Given the description of an element on the screen output the (x, y) to click on. 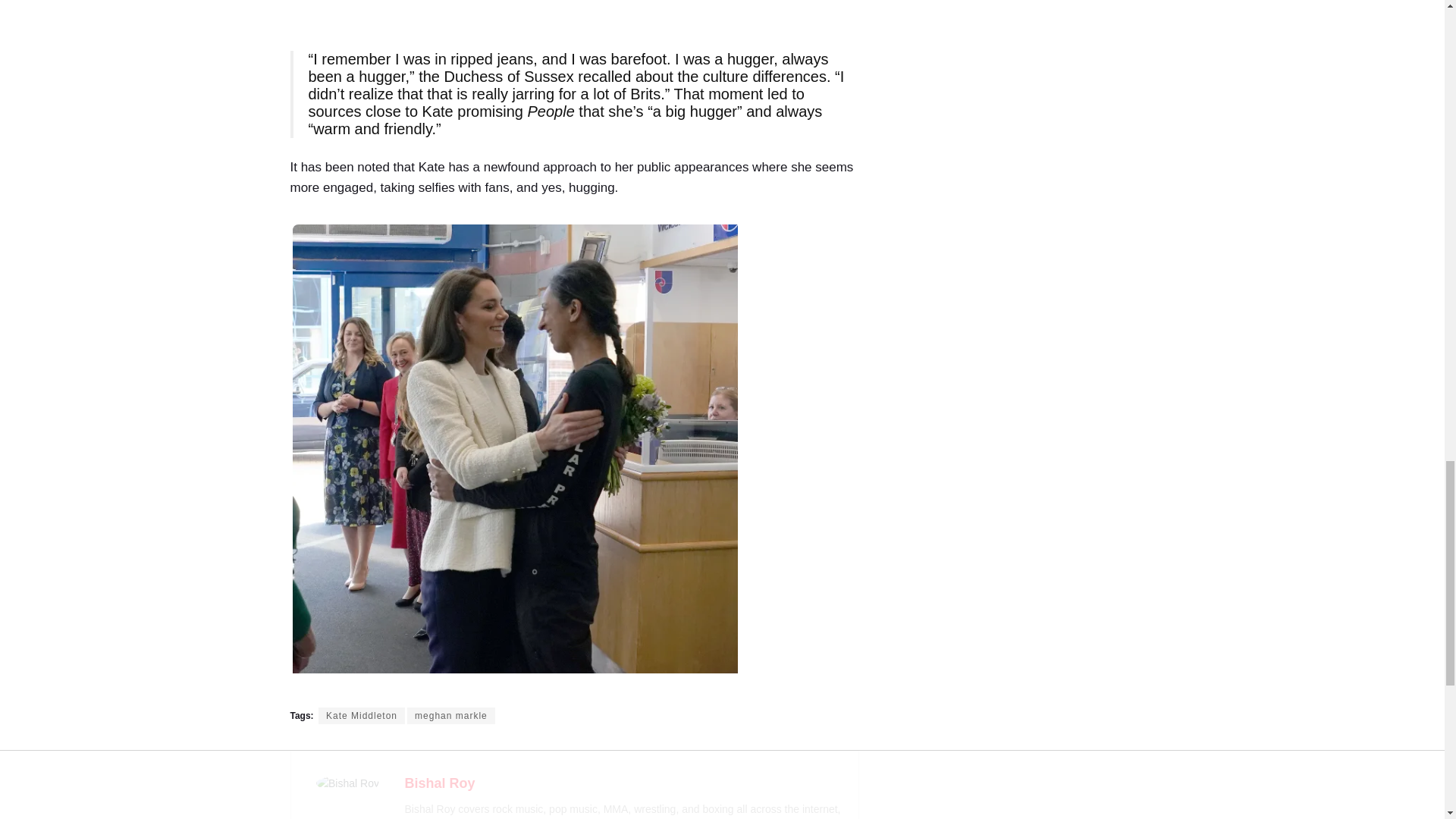
meghan markle (451, 715)
3rd party ad content (574, 22)
Kate Middleton (361, 715)
